Given the description of an element on the screen output the (x, y) to click on. 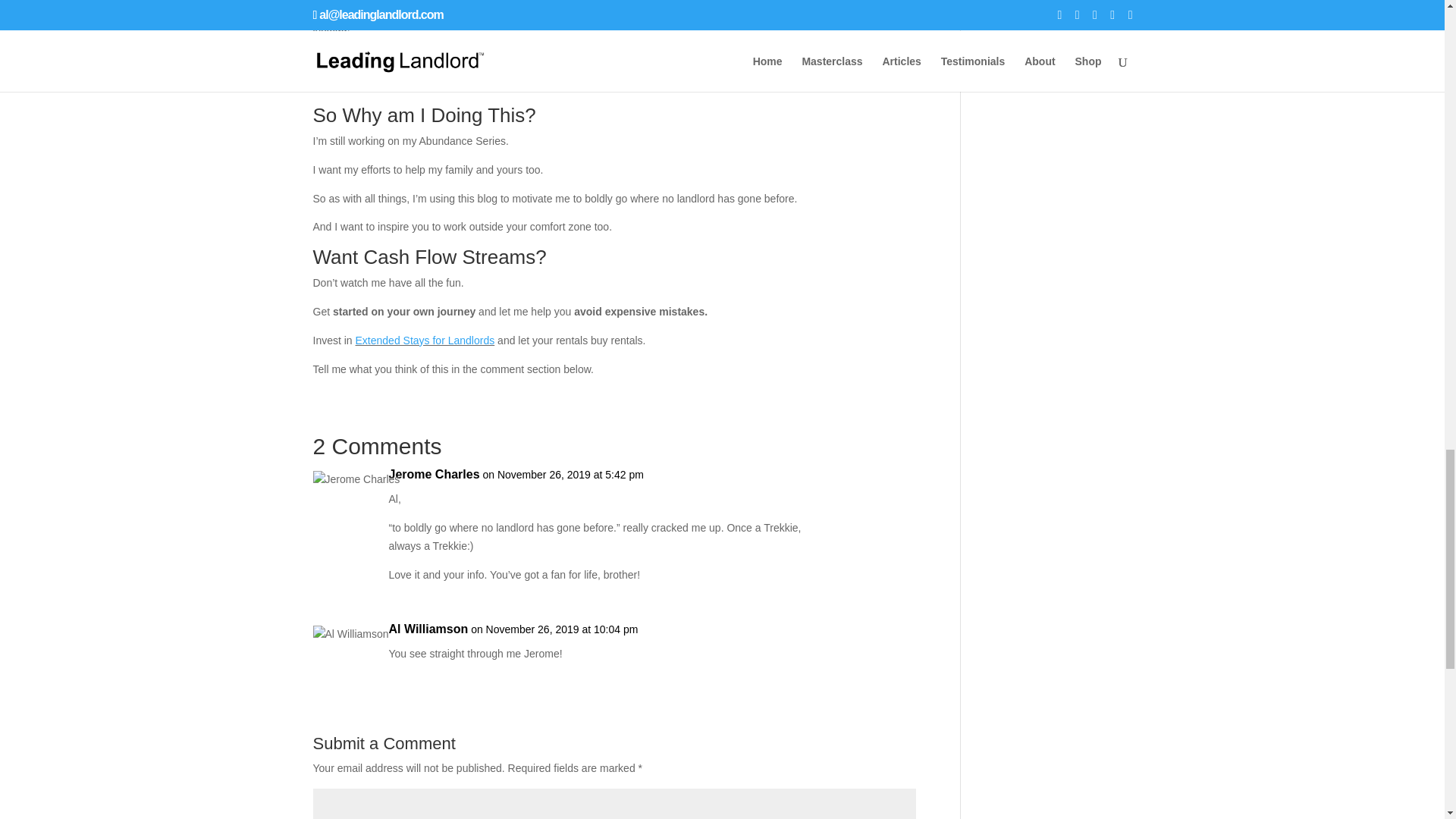
Extended Stays for Landlords (425, 340)
Al Williamson (427, 628)
